Given the description of an element on the screen output the (x, y) to click on. 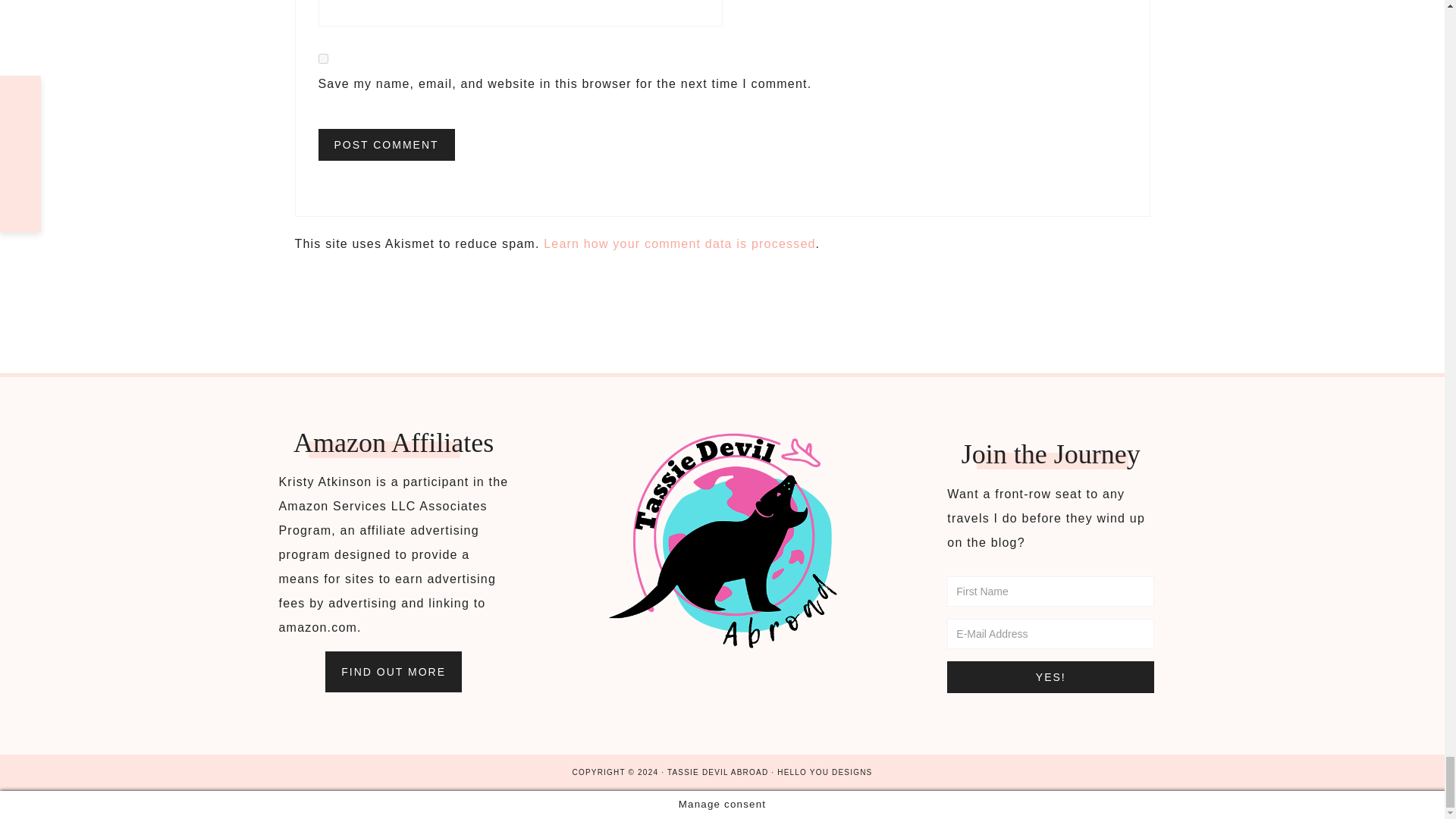
Post Comment (386, 144)
yes (323, 58)
Yes! (1050, 676)
